Given the description of an element on the screen output the (x, y) to click on. 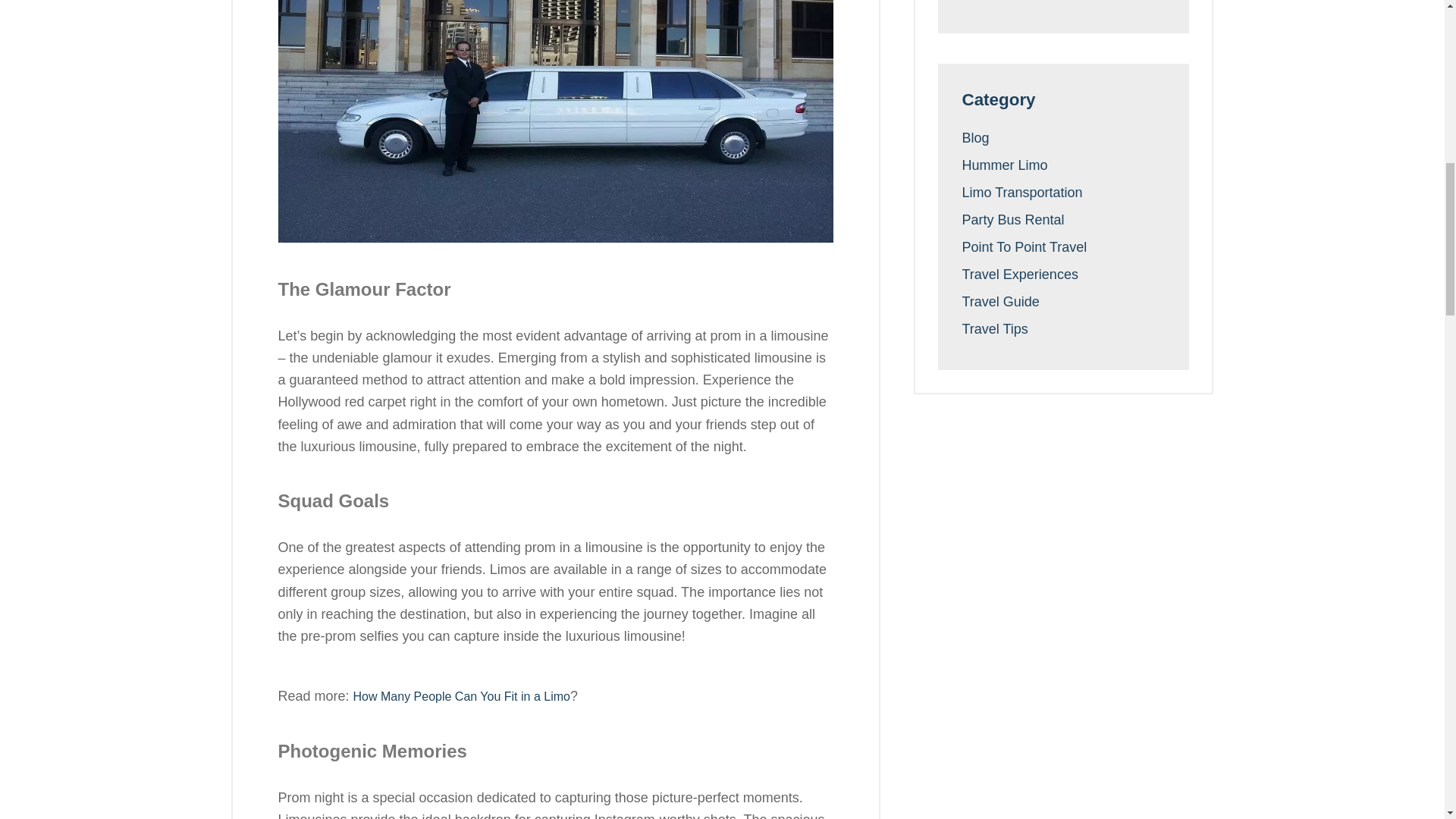
How Many People Can You Fit in a Limo (461, 696)
